Given the description of an element on the screen output the (x, y) to click on. 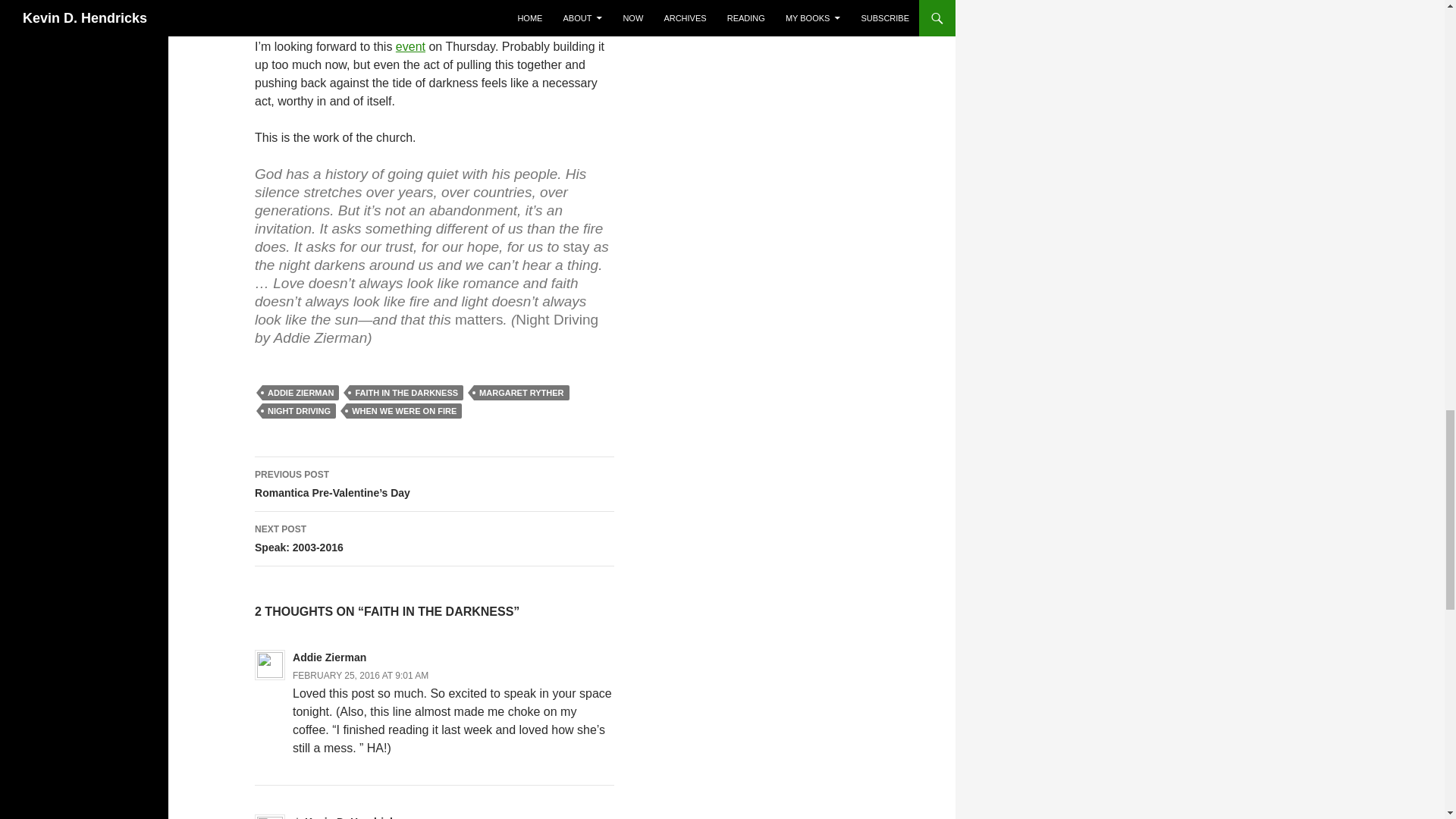
NIGHT DRIVING (299, 410)
FAITH IN THE DARKNESS (406, 392)
event (410, 46)
ADDIE ZIERMAN (300, 392)
MARGARET RYTHER (521, 392)
